Given the description of an element on the screen output the (x, y) to click on. 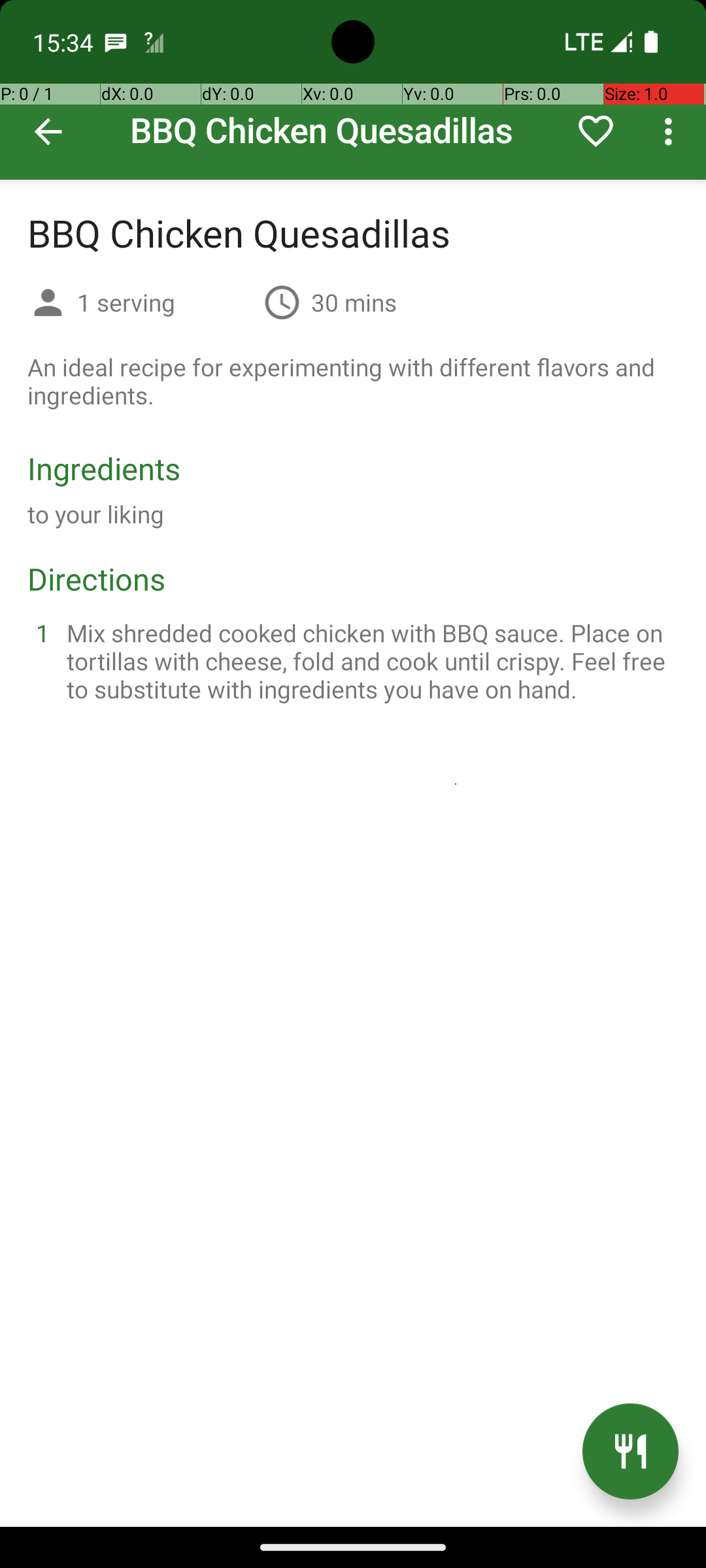
Mix shredded cooked chicken with BBQ sauce. Place on tortillas with cheese, fold and cook until crispy. Feel free to substitute with ingredients you have on hand. Element type: android.widget.TextView (368, 660)
